Given the description of an element on the screen output the (x, y) to click on. 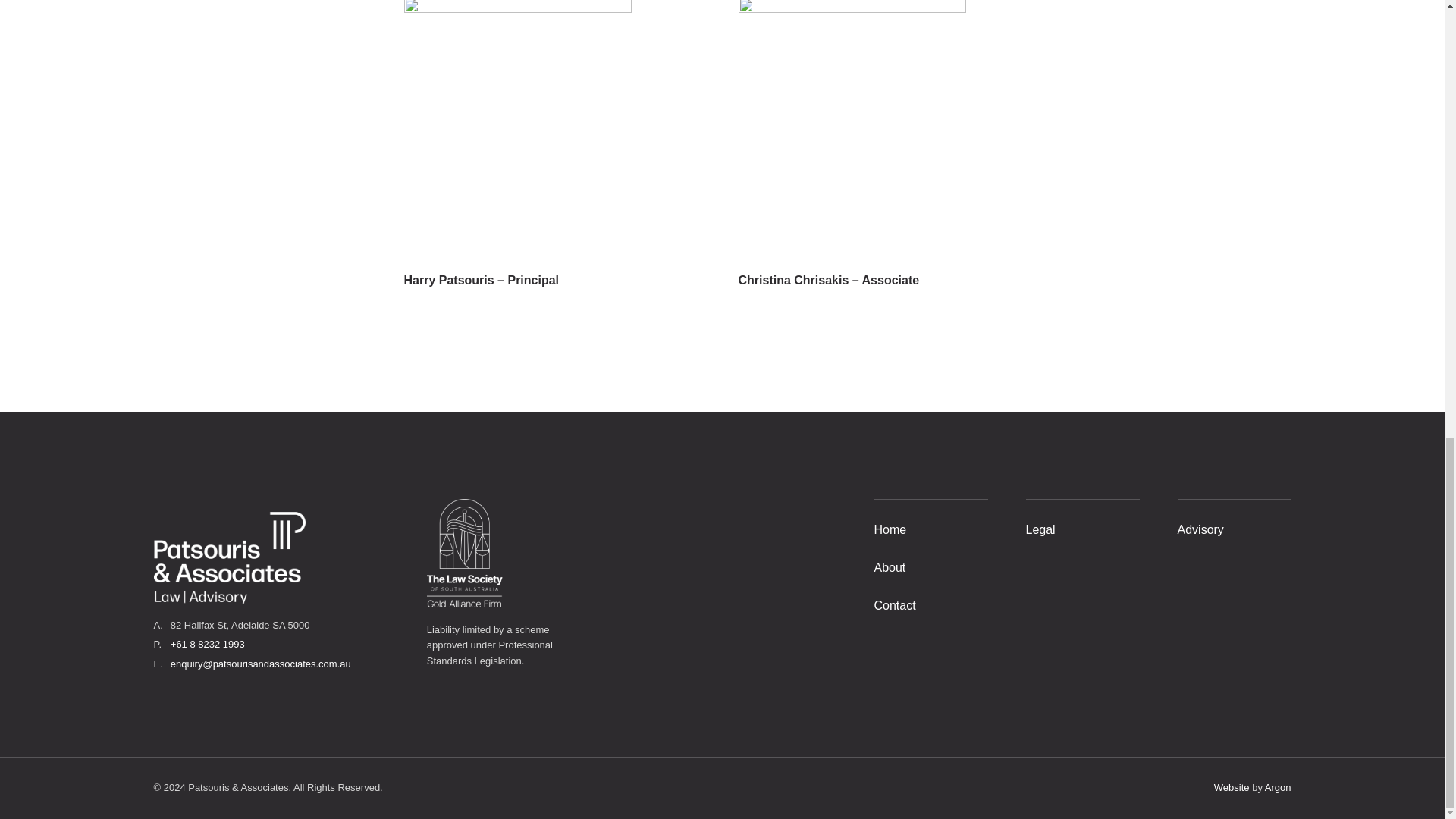
Home (889, 529)
Website (1231, 787)
Argon (1278, 787)
Contact (894, 604)
Legal (1039, 529)
About (889, 567)
Advisory (1199, 529)
